Given the description of an element on the screen output the (x, y) to click on. 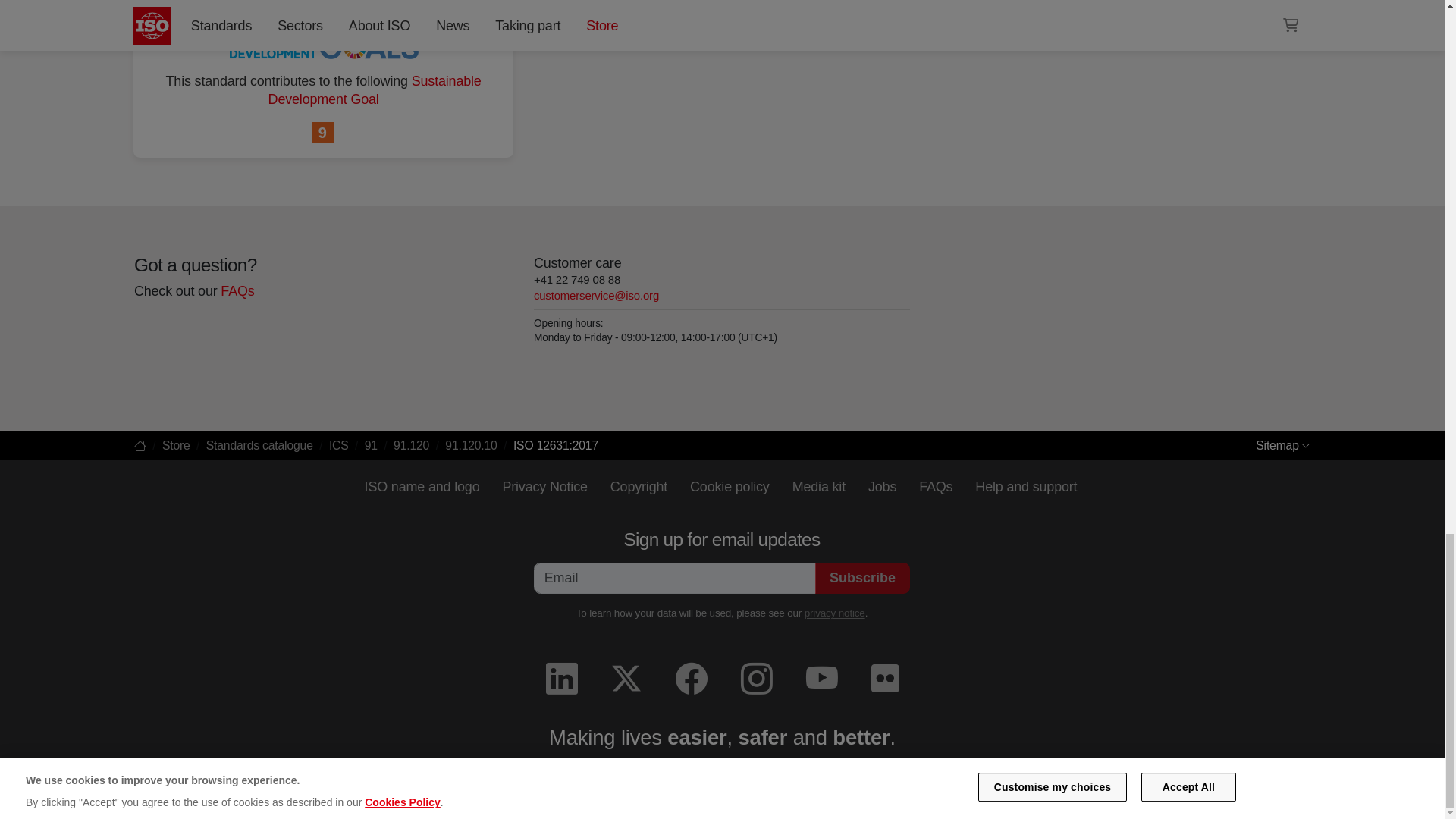
frequently-asked-questions-faqs (237, 290)
Industry, Innovation and Infrastructure (323, 133)
